Given the description of an element on the screen output the (x, y) to click on. 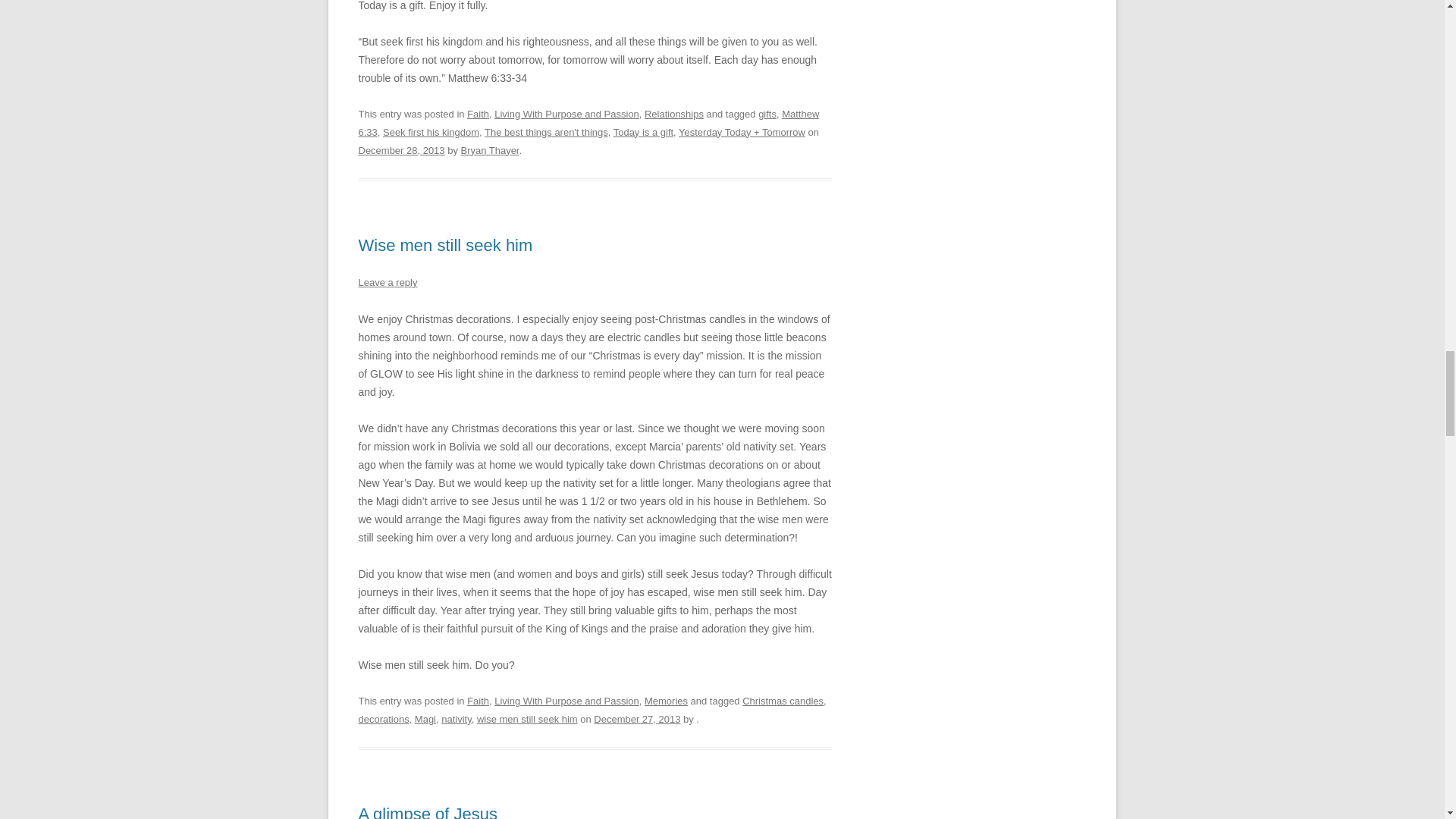
5:00 am (636, 718)
5:00 am (401, 150)
View all posts by Bryan Thayer (489, 150)
